Given the description of an element on the screen output the (x, y) to click on. 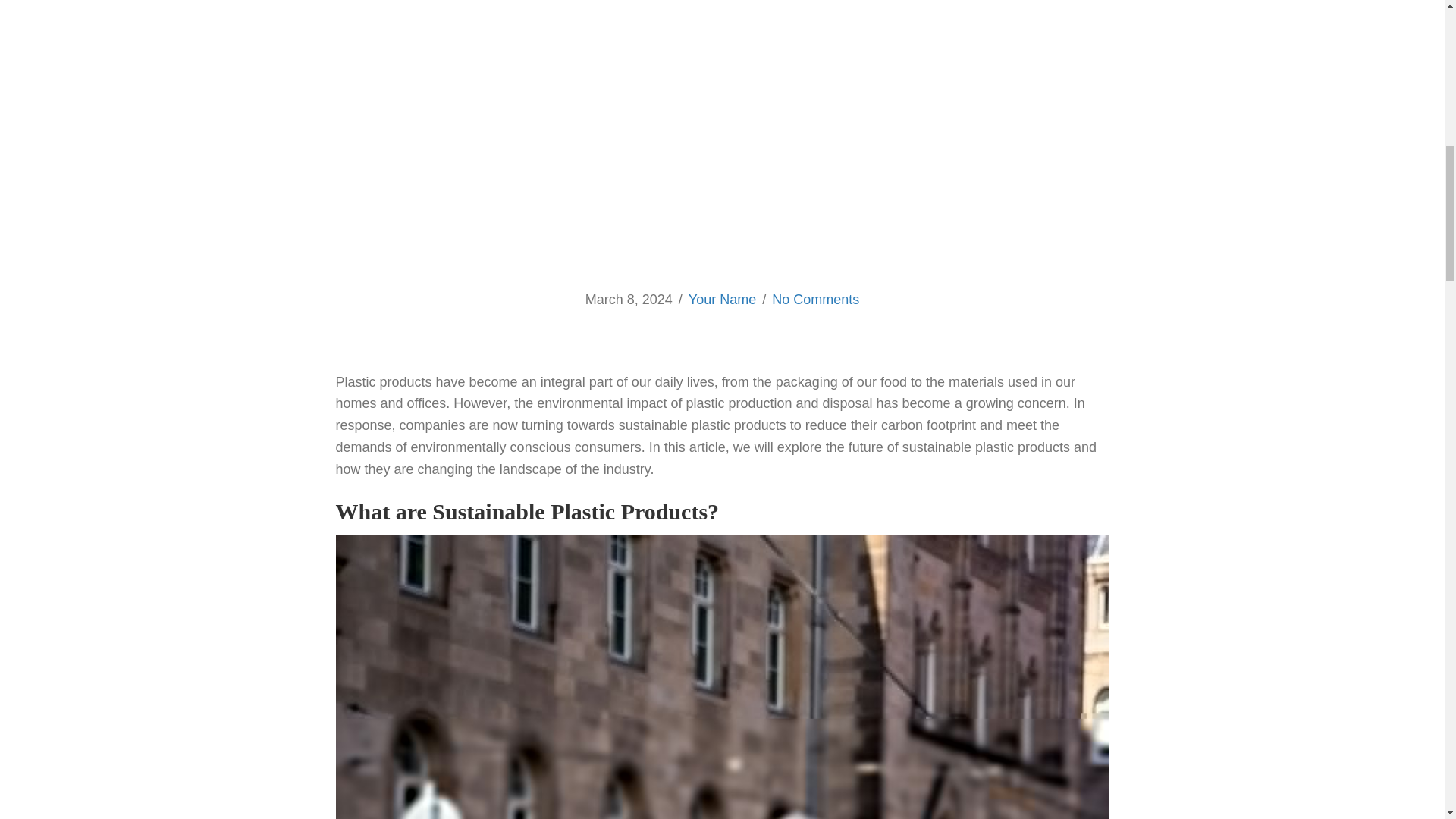
No Comments (815, 299)
Your Name (721, 299)
